Given the description of an element on the screen output the (x, y) to click on. 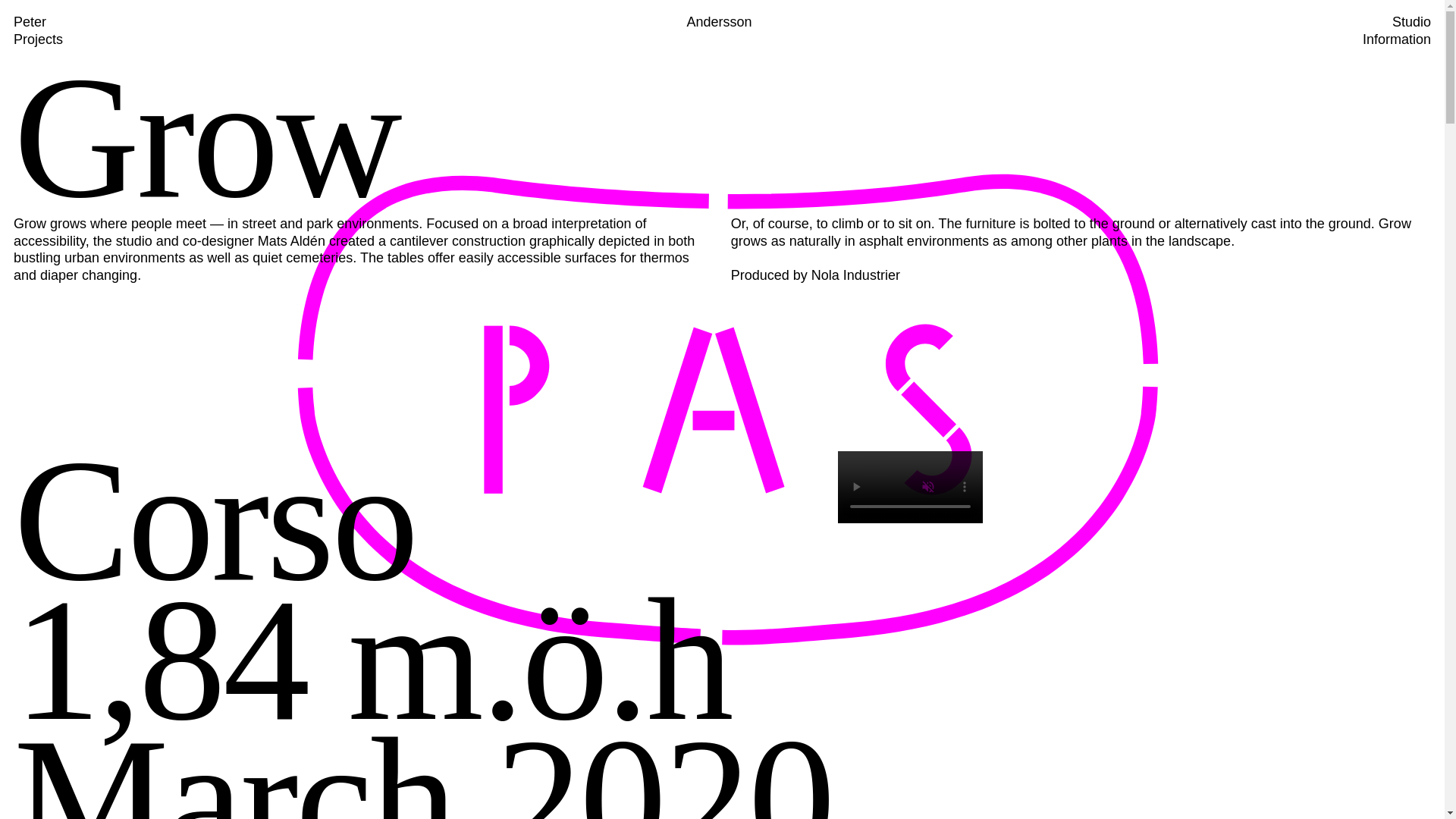
Projects (37, 38)
Nola Industrier (854, 274)
Information (1396, 38)
